Given the description of an element on the screen output the (x, y) to click on. 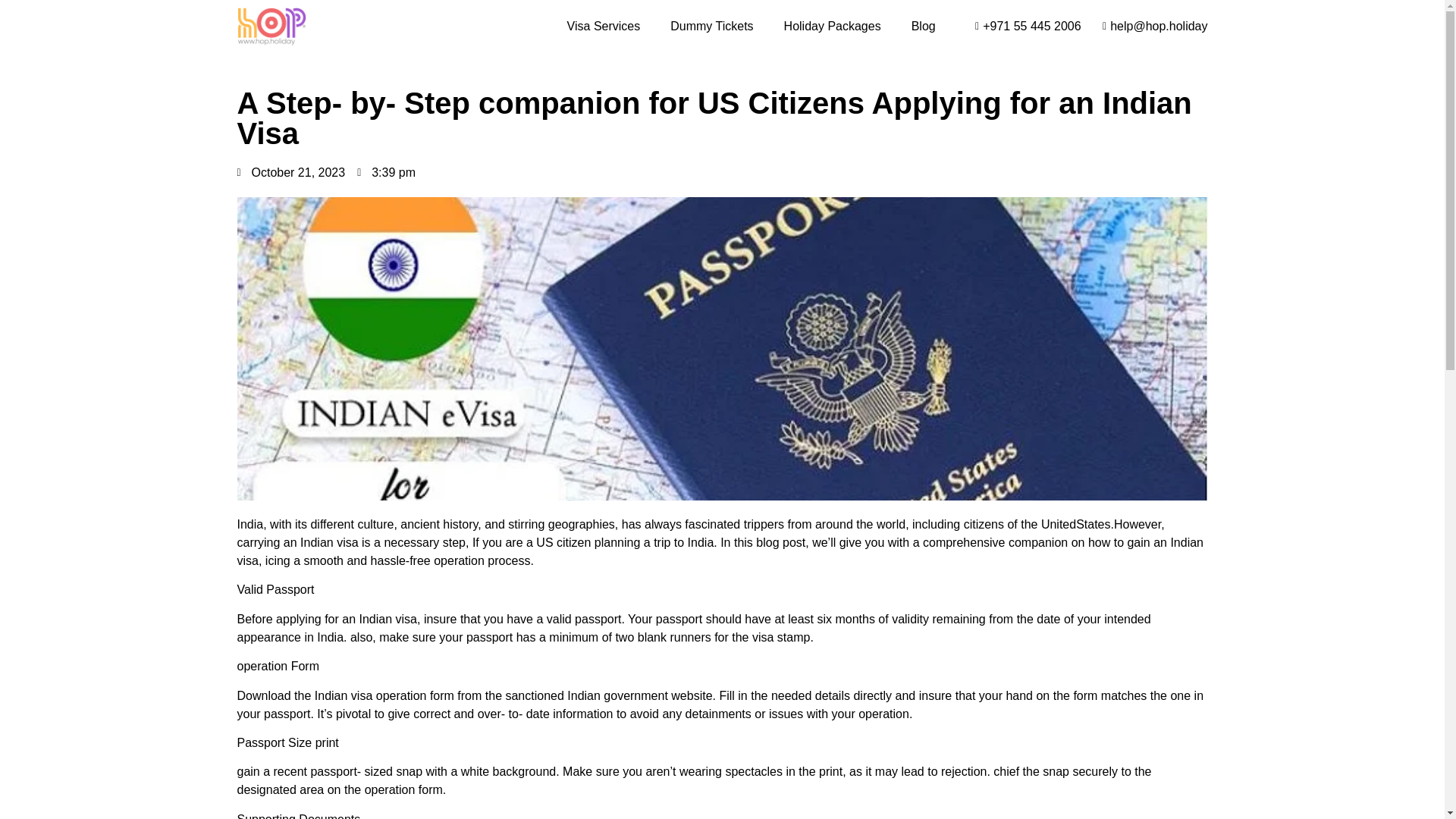
Blog (923, 26)
October 21, 2023 (290, 172)
Dummy Tickets (711, 26)
Visa Services (603, 26)
Holiday Packages (832, 26)
